Given the description of an element on the screen output the (x, y) to click on. 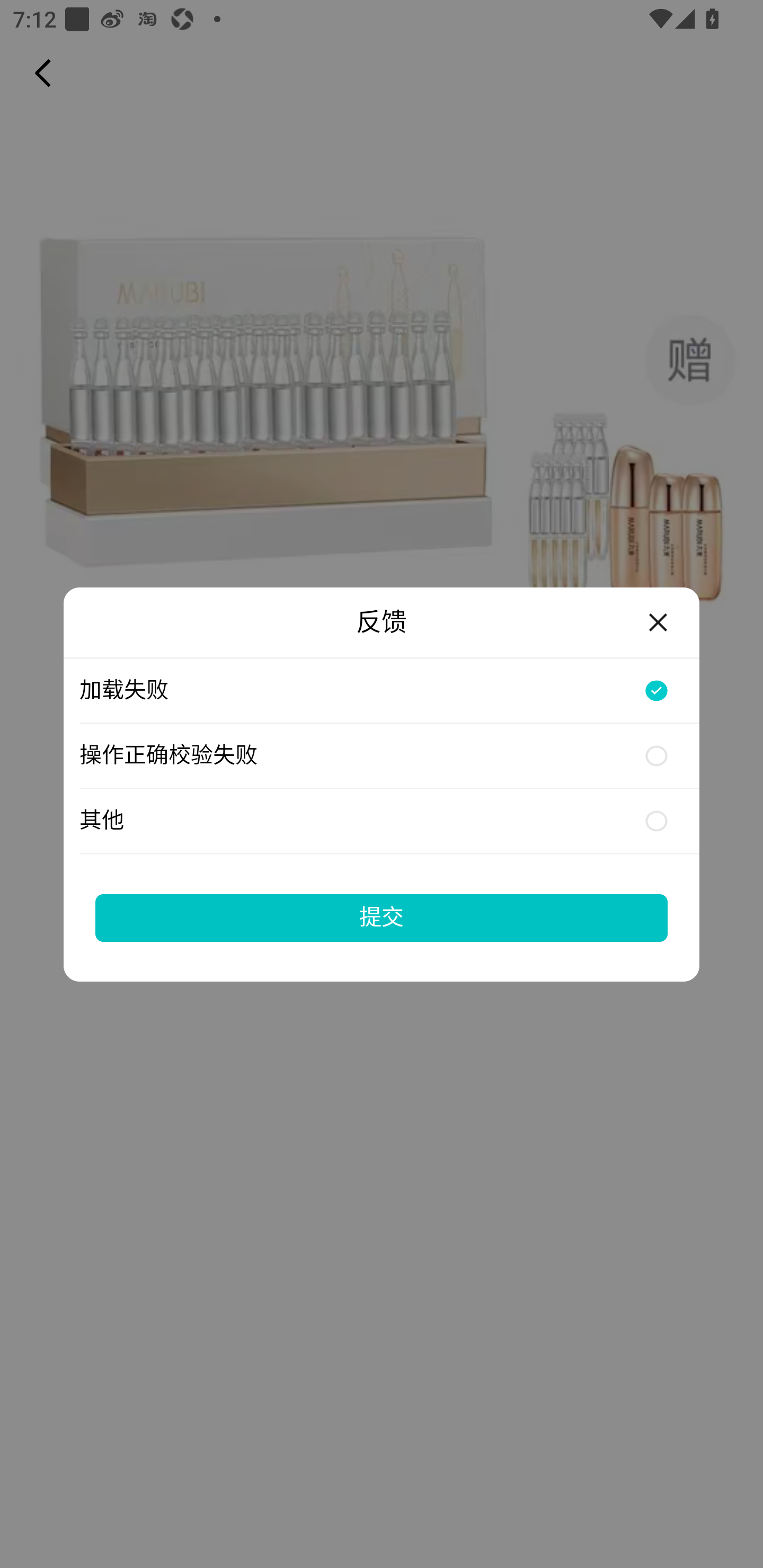
提交 (381, 917)
